Given the description of an element on the screen output the (x, y) to click on. 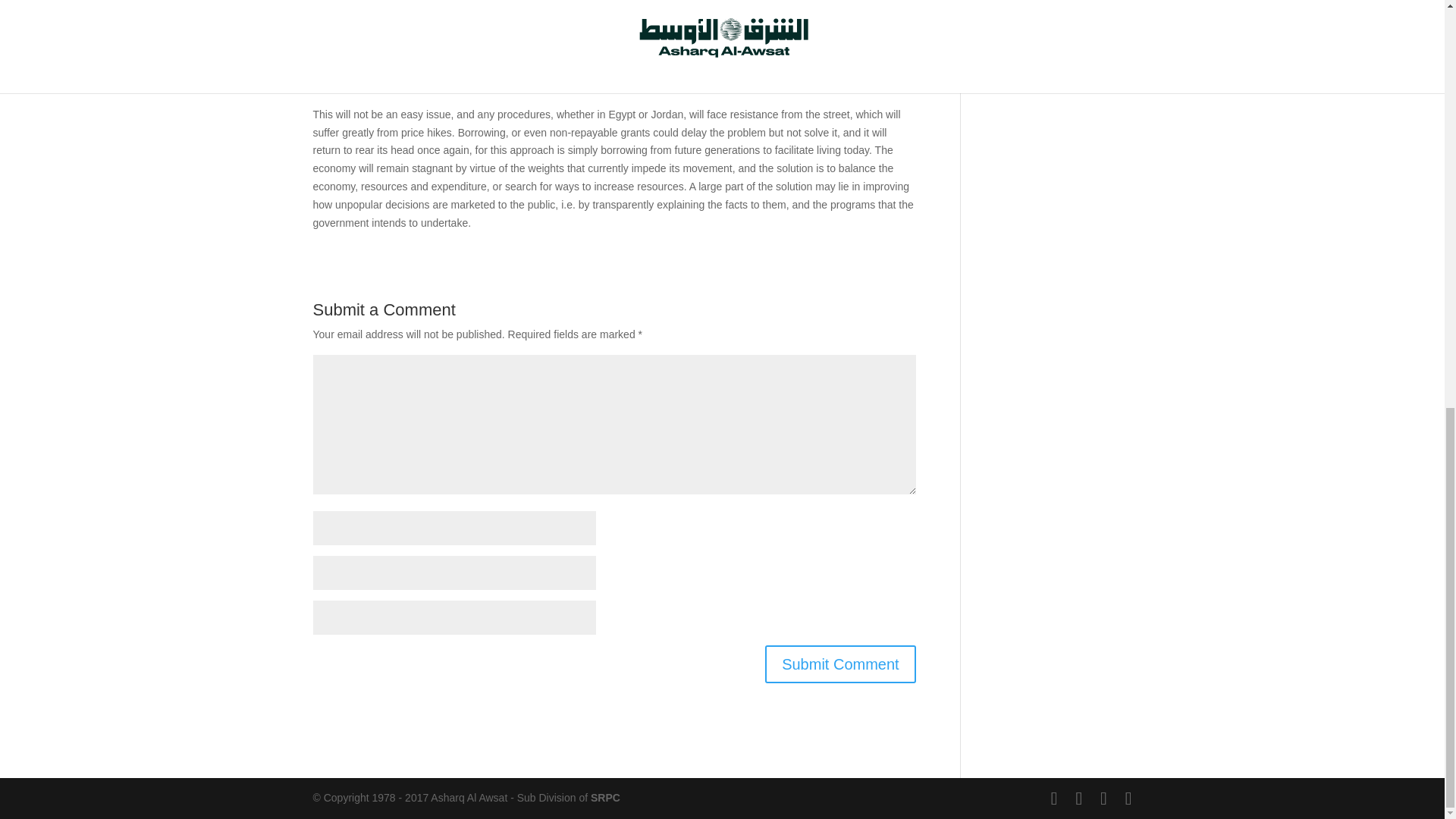
Submit Comment (840, 664)
Submit Comment (840, 664)
SRPC (605, 797)
